Given the description of an element on the screen output the (x, y) to click on. 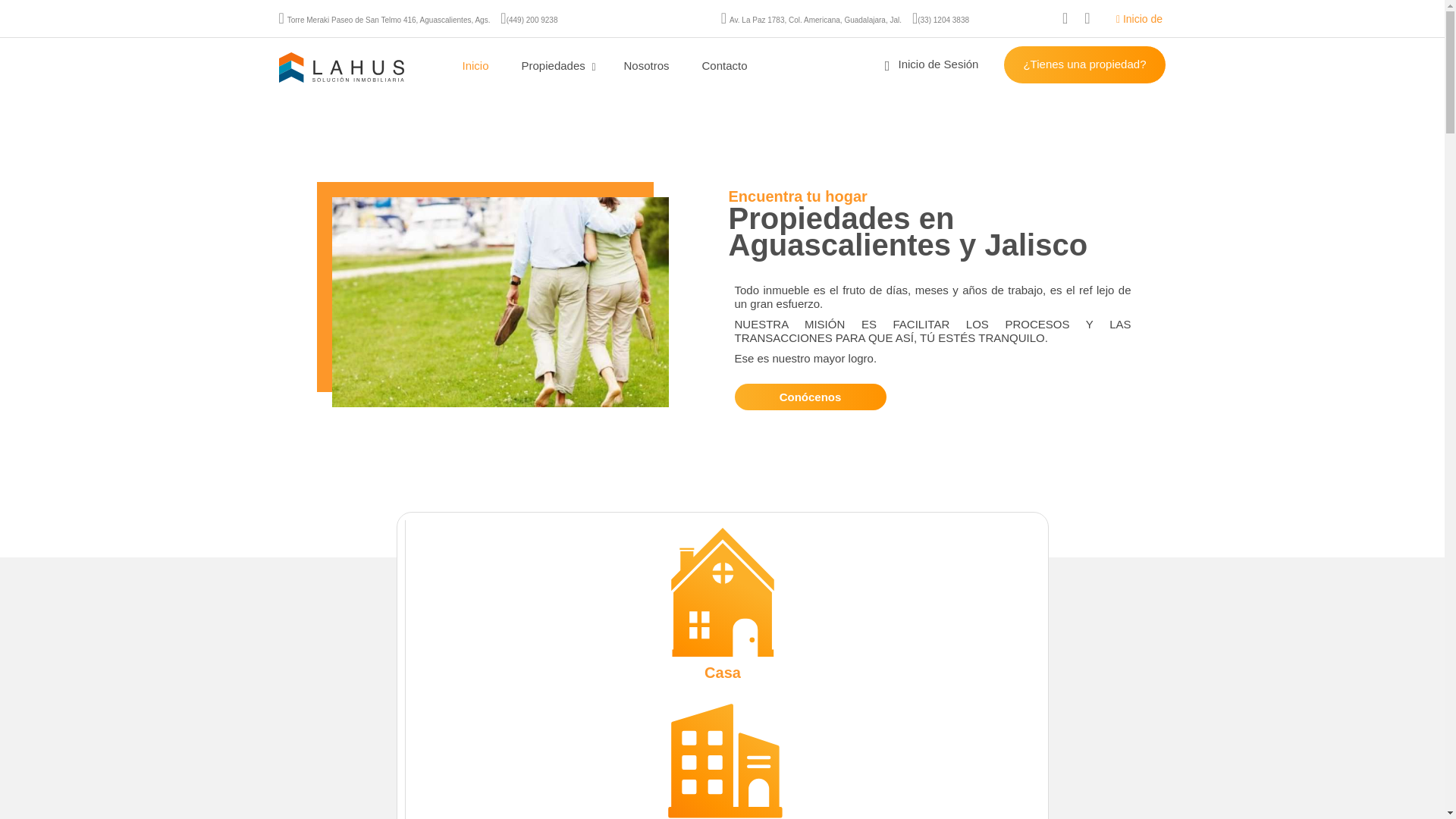
Propiedades (555, 65)
Torre Meraki Paseo de San Telmo 416, Aguascalientes, Ags. (388, 19)
Nosotros (646, 65)
Departamento (722, 757)
Av. La Paz 1783, Col. Americana, Guadalajara, Jal. (814, 19)
Contacto (724, 65)
Casa (722, 604)
Inicio (476, 65)
